Given the description of an element on the screen output the (x, y) to click on. 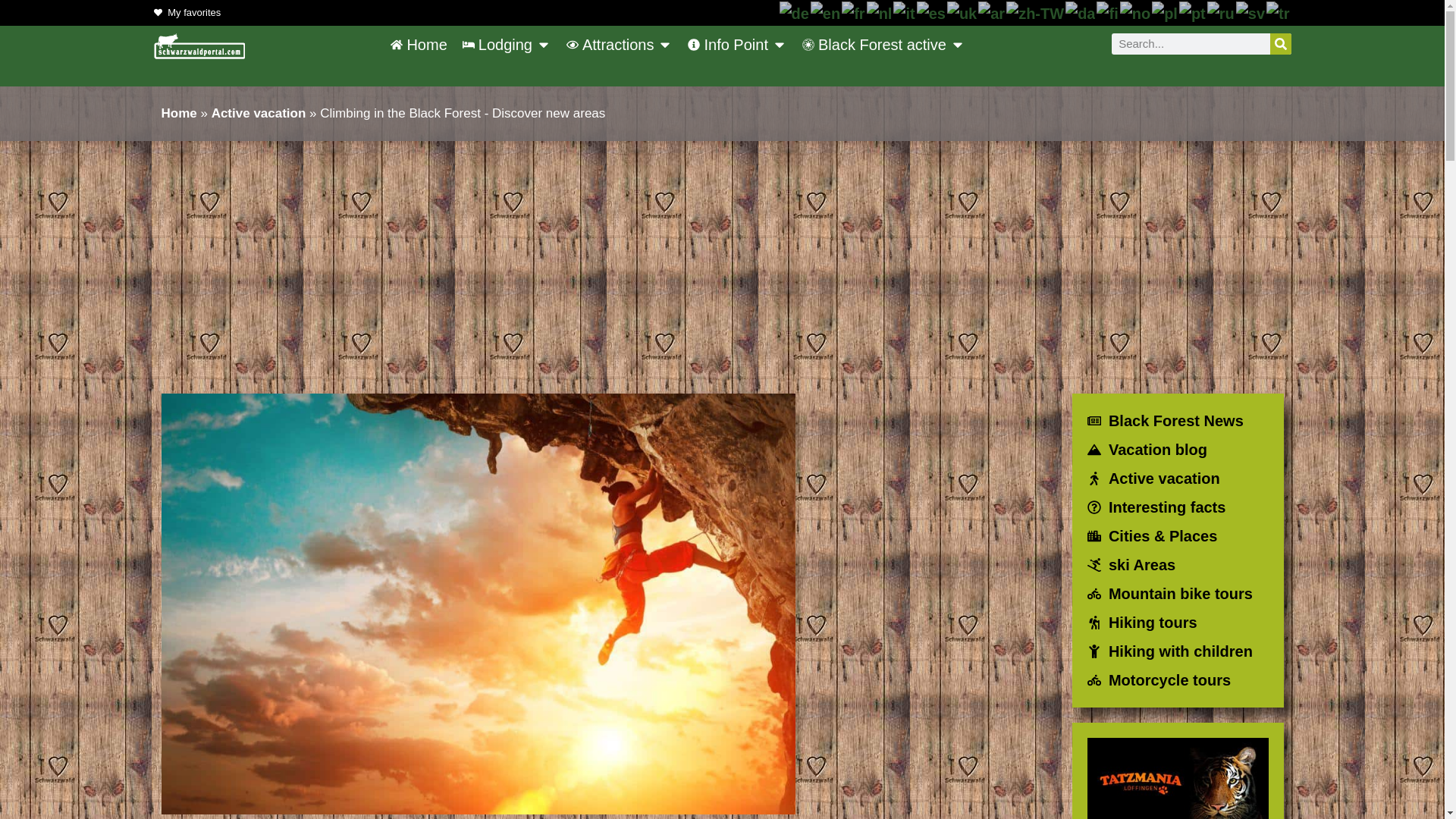
Home (418, 44)
Polish (1165, 12)
Dutch (879, 12)
French (853, 12)
Arabic (992, 12)
Lodging (497, 44)
German (794, 12)
Attractions (609, 44)
English (825, 12)
Danish (1080, 12)
My favorites (186, 12)
Ukrainian (962, 12)
Italian (904, 12)
Finnish (1107, 12)
Spanish (932, 12)
